Given the description of an element on the screen output the (x, y) to click on. 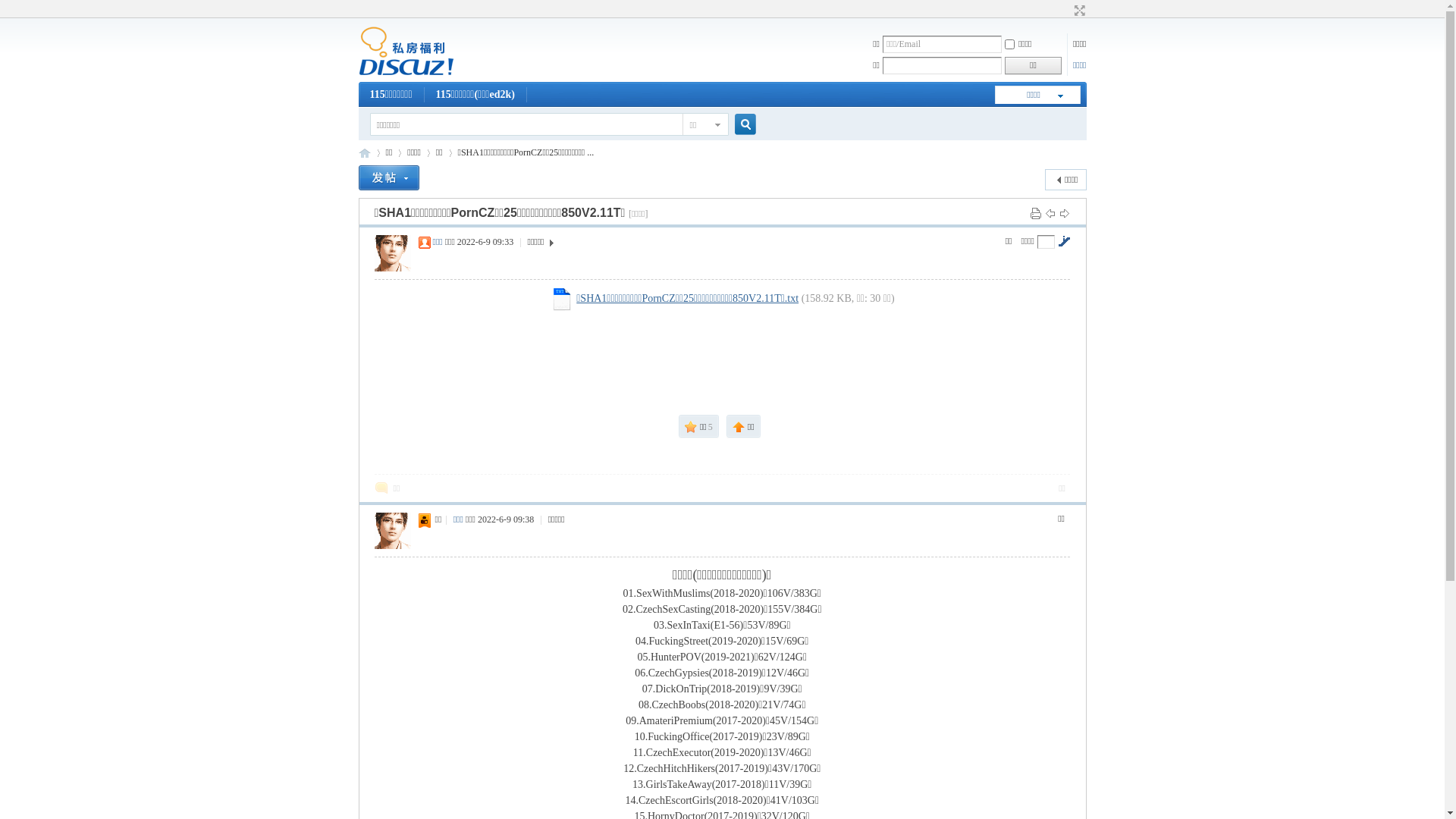
true Element type: text (738, 124)
